Given the description of an element on the screen output the (x, y) to click on. 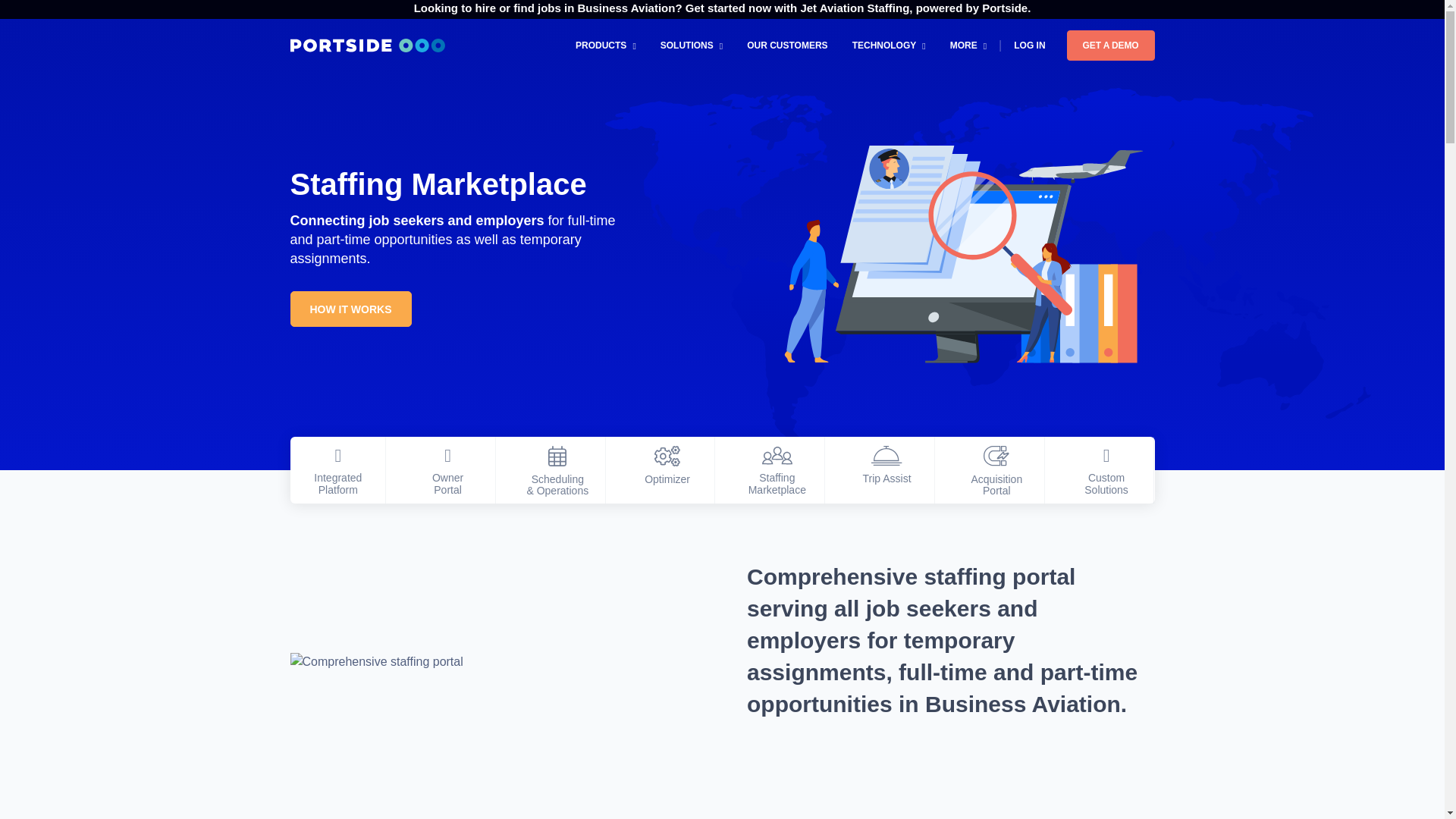
SOLUTIONS (691, 45)
TECHNOLOGY (888, 45)
OUR CUSTOMERS (787, 45)
PRODUCTS (605, 45)
